Given the description of an element on the screen output the (x, y) to click on. 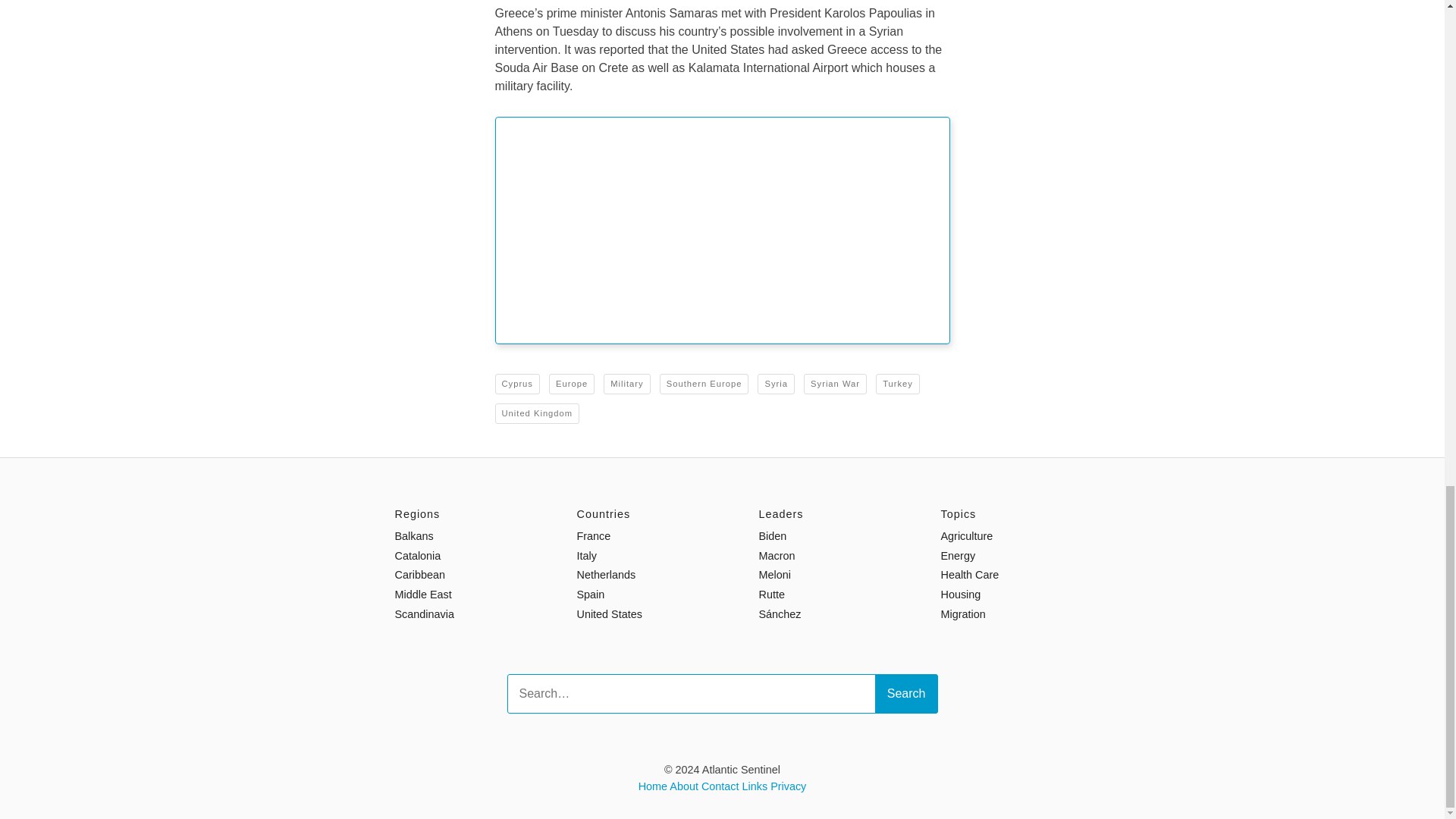
Netherlands (605, 574)
Syrian War (834, 383)
Middle East (422, 594)
Scandinavia (423, 613)
Rutte (771, 594)
Macron (776, 555)
Macron (776, 555)
Spain (590, 594)
Agriculture (966, 535)
Housing (959, 594)
Cyprus (516, 383)
Italy (585, 555)
United States (609, 613)
Scandinavia (423, 613)
Balkans (413, 535)
